Given the description of an element on the screen output the (x, y) to click on. 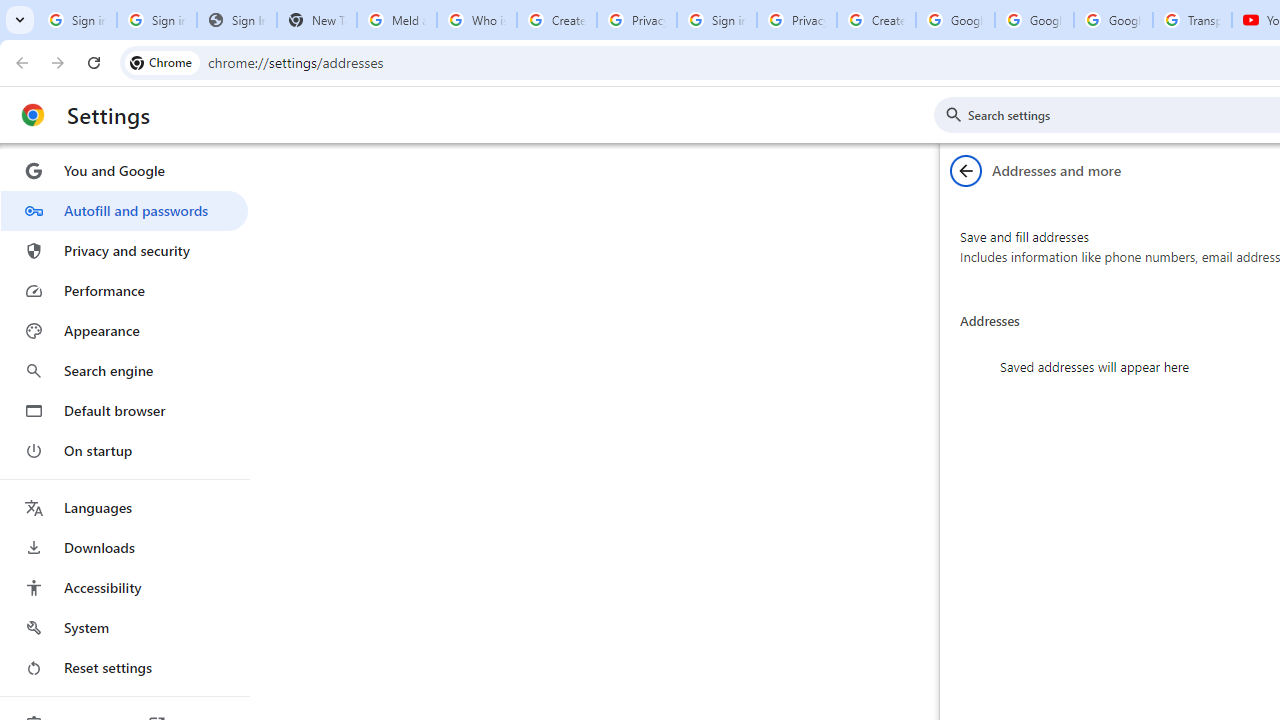
Create your Google Account (556, 20)
